Given the description of an element on the screen output the (x, y) to click on. 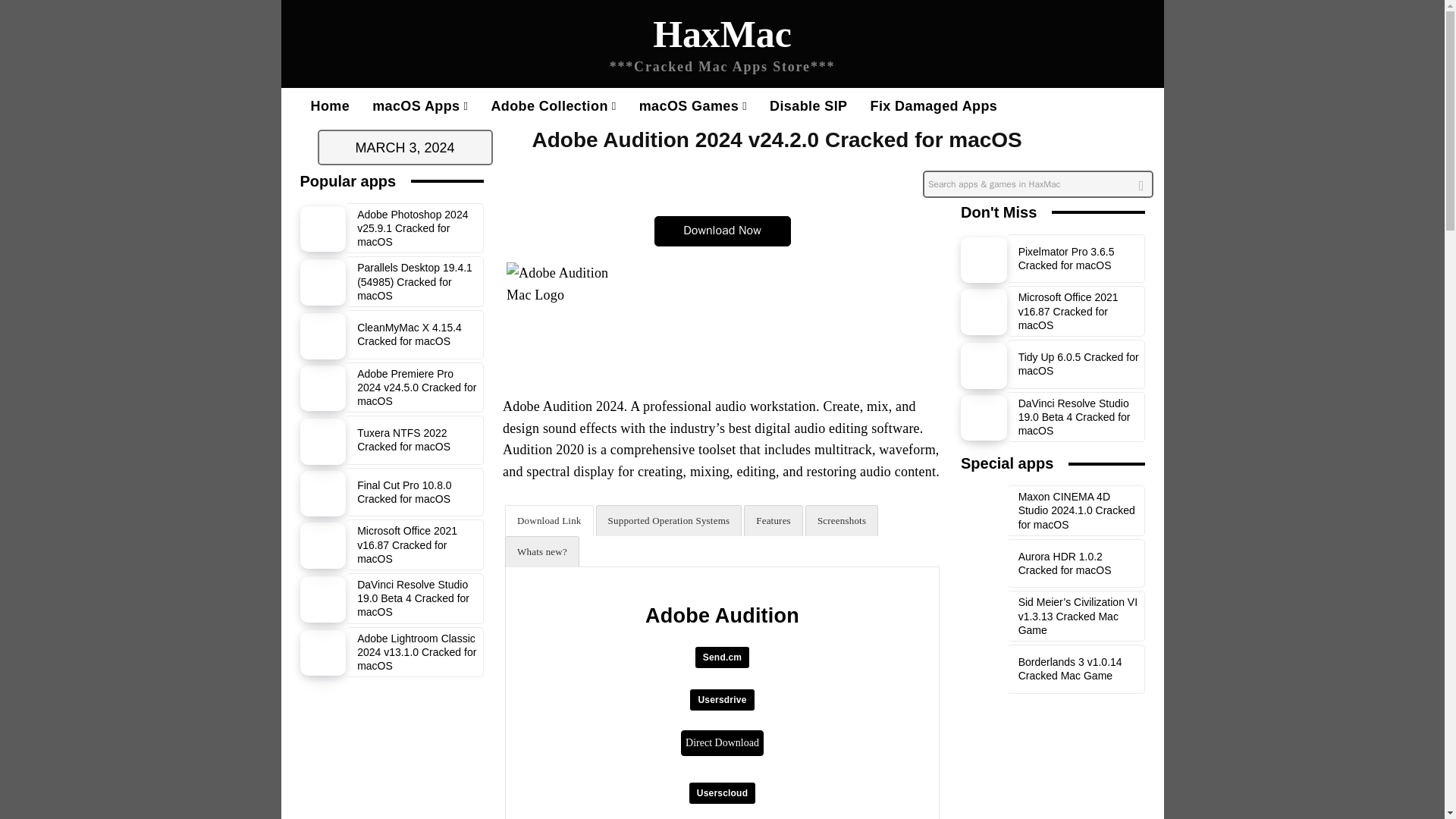
CleanMyMac X 4.15.4 Cracked for macOS (322, 335)
CleanMyMac X 4.15.4 Cracked for macOS (408, 334)
Adobe Premiere Pro 2024 v24.5.0 Cracked for macOS (416, 387)
Adobe Photoshop 2024 v25.9.1 Cracked for macOS (411, 228)
Tuxera NTFS 2022 Cracked for macOS (402, 439)
Tuxera NTFS 2022 Cracked for macOS (322, 441)
Adobe Photoshop 2024 v25.9.1 Cracked for macOS (322, 229)
Home (329, 105)
Adobe Premiere Pro 2024 v24.5.0 Cracked for macOS (322, 388)
Final Cut Pro 10.8.0 Cracked for macOS (403, 492)
macOS Apps (420, 105)
Haxmac (722, 47)
Final Cut Pro 10.8.0 Cracked for macOS (322, 493)
